Given the description of an element on the screen output the (x, y) to click on. 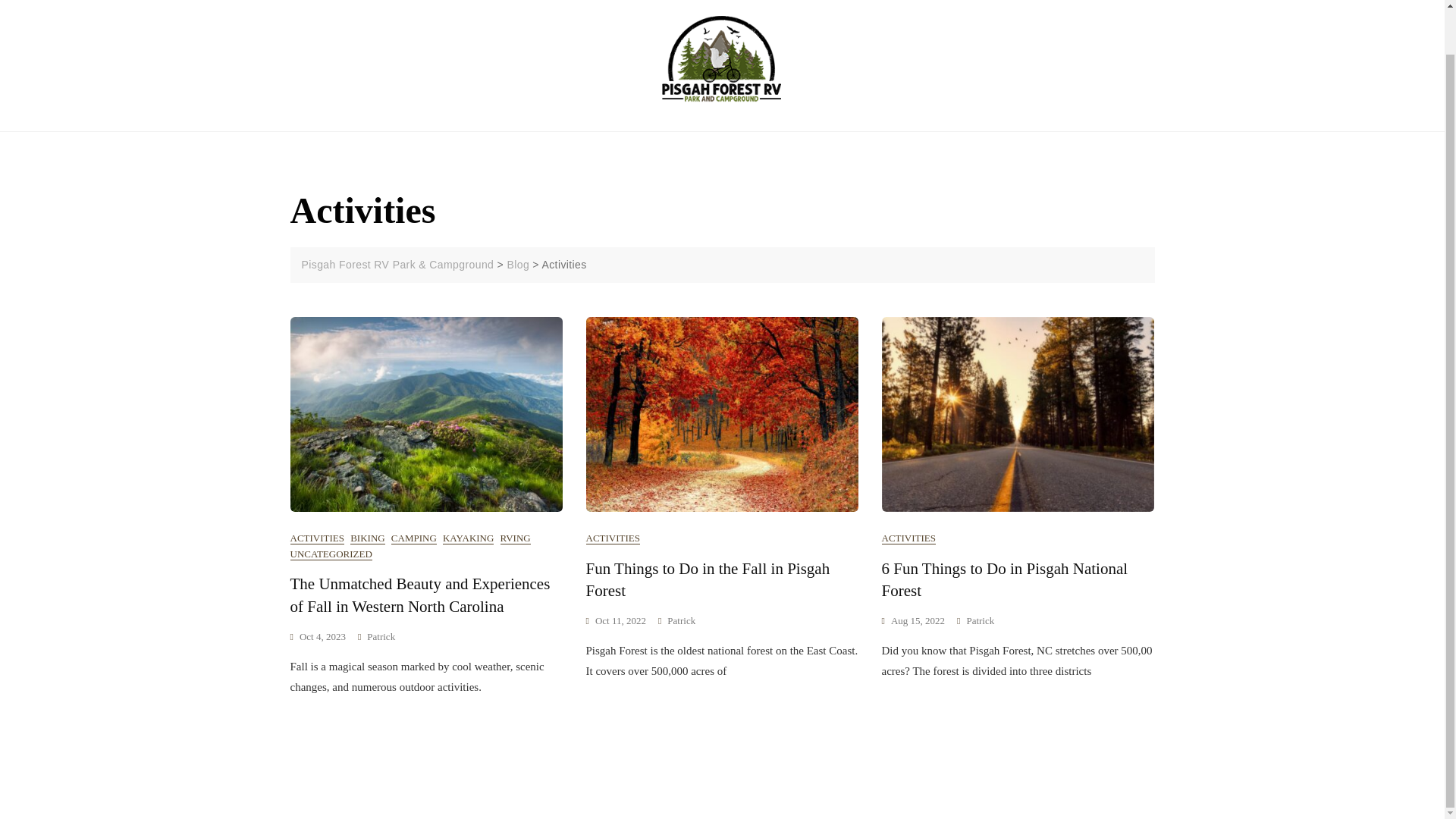
AREA ATTRACTIONS (438, 59)
RV STORAGE (969, 37)
CONTACT US (549, 59)
BOOK NOW (329, 59)
Go to Blog. (517, 264)
BLOG (830, 37)
GALLERY (888, 37)
